Given the description of an element on the screen output the (x, y) to click on. 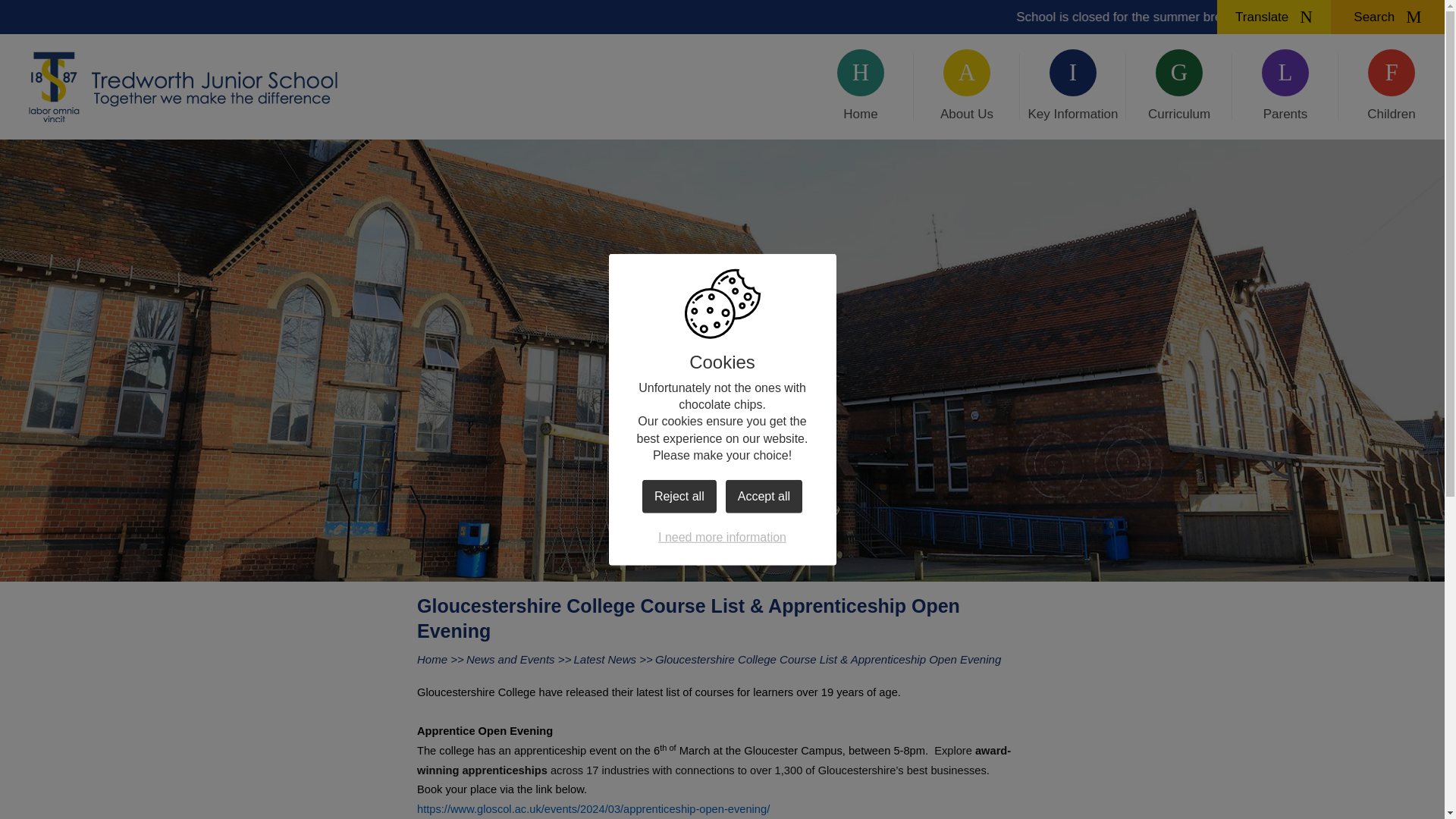
Home (861, 87)
Key Information (1072, 87)
Home Page (185, 86)
About Us (967, 87)
